Given the description of an element on the screen output the (x, y) to click on. 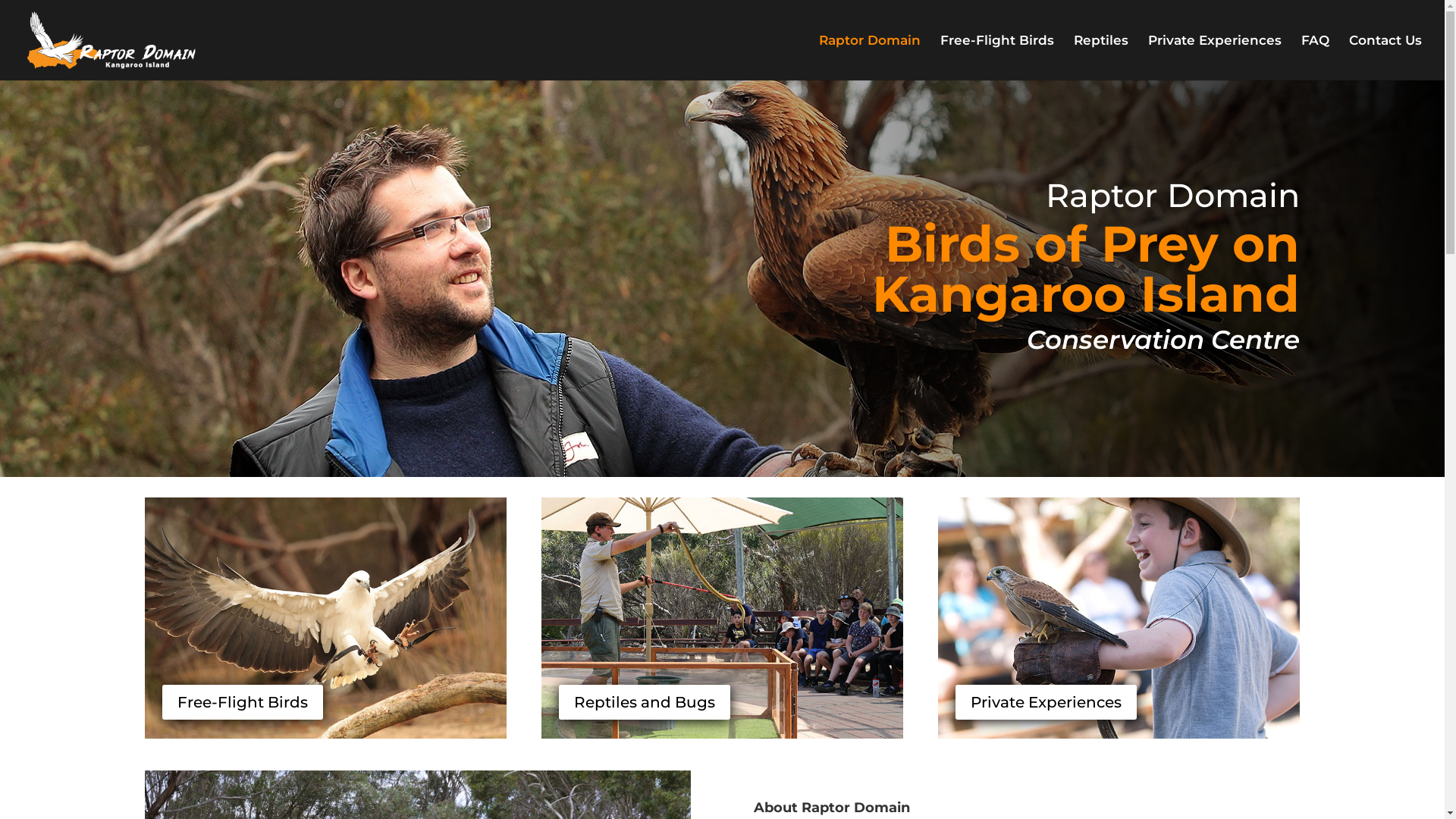
Private Experiences Element type: text (1045, 701)
Private Experiences Element type: text (1214, 57)
Free-Flight Birds Element type: text (242, 701)
Contact Us Element type: text (1385, 57)
Raptor Domain Element type: text (869, 57)
Reptiles and Bugs Element type: text (644, 701)
Reptiles Element type: text (1100, 57)
FAQ Element type: text (1315, 57)
Free-Flight Birds Element type: text (997, 57)
